Given the description of an element on the screen output the (x, y) to click on. 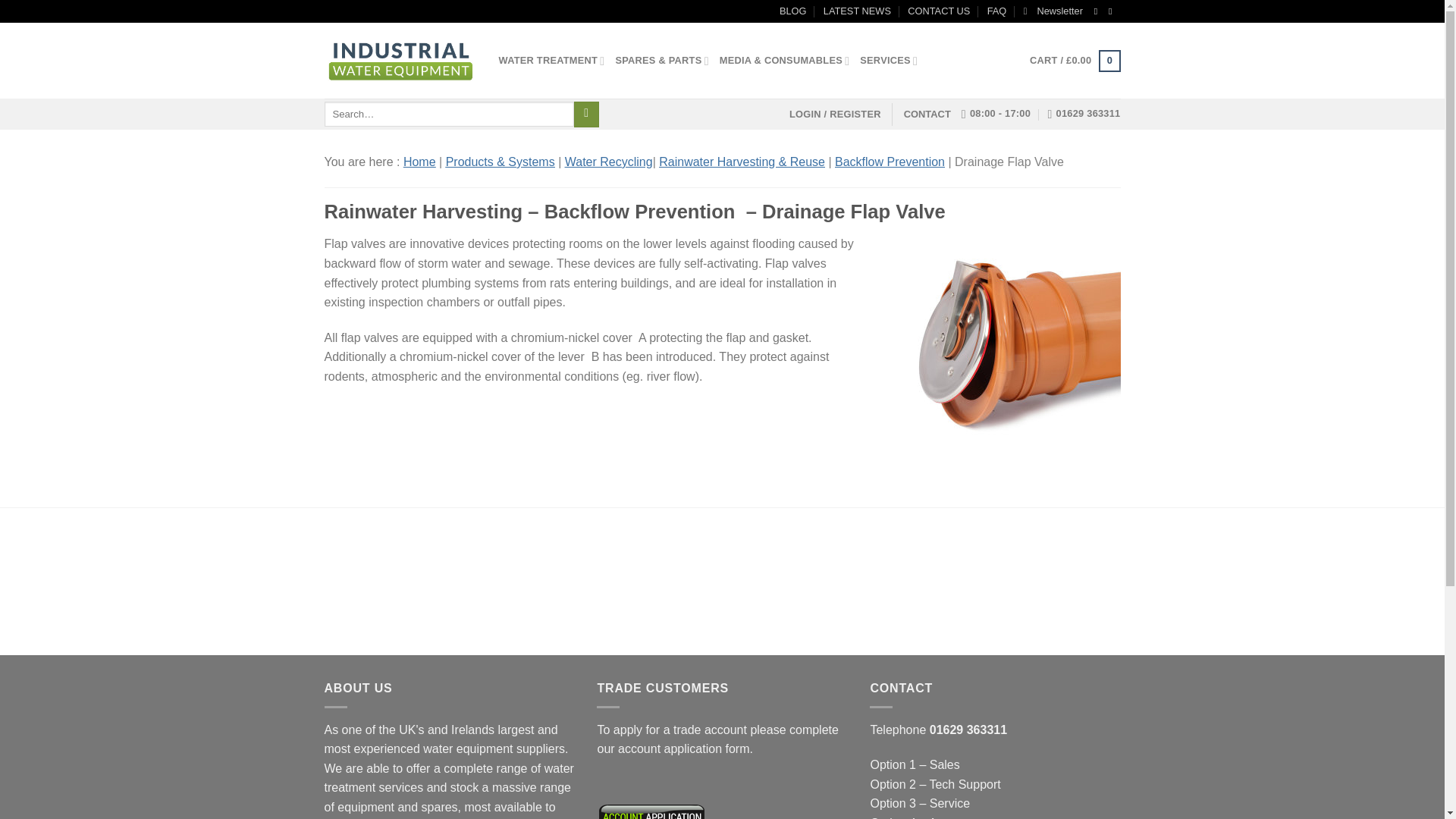
Water Treatment (552, 60)
Sign up for Newsletter (1053, 11)
LATEST NEWS (857, 11)
CONTACT US (938, 11)
BLOG (792, 11)
WATER TREATMENT (552, 60)
Newsletter (1053, 11)
